Given the description of an element on the screen output the (x, y) to click on. 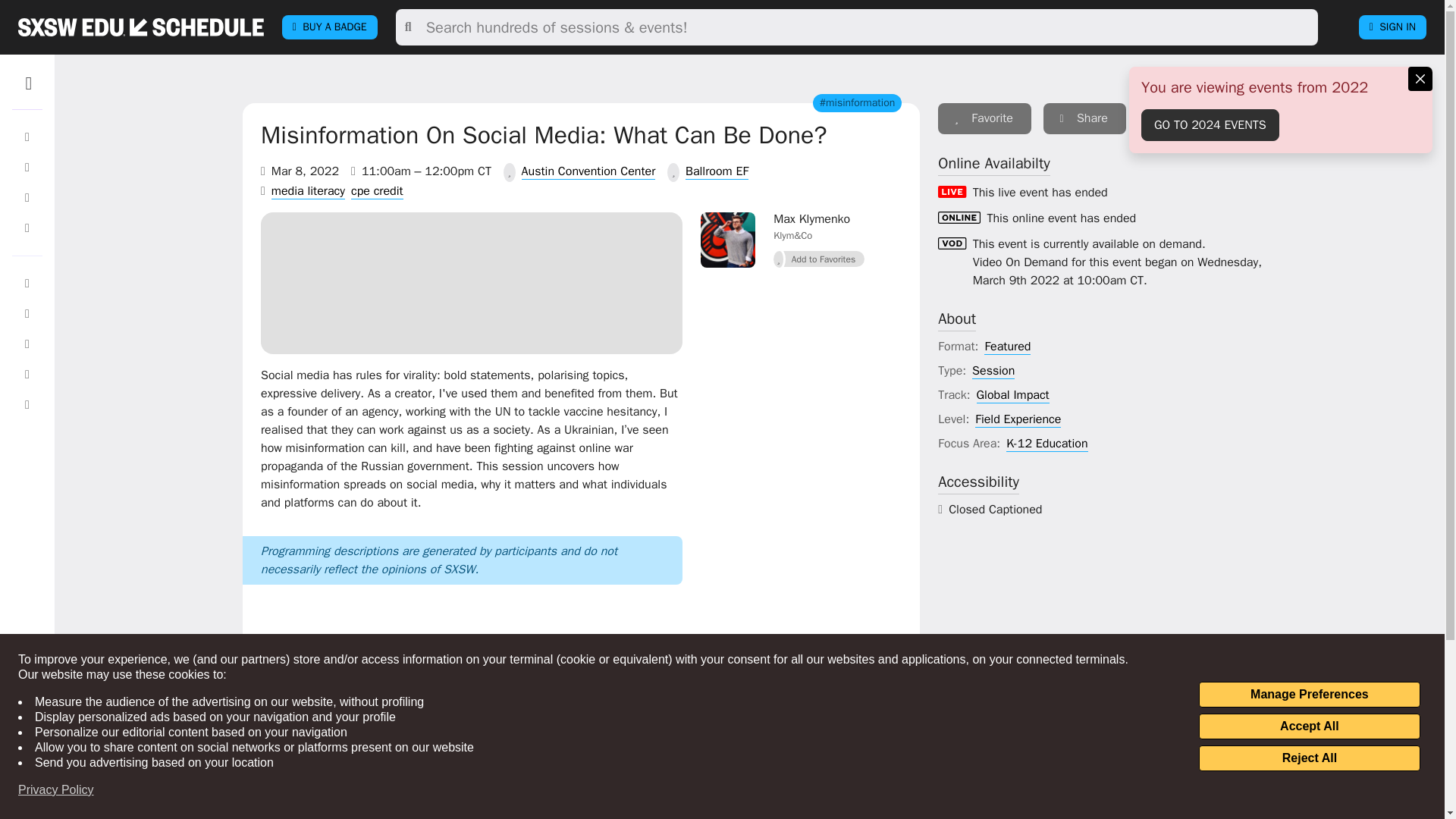
edu SCHEDULE (140, 27)
BUY A BADGE (329, 27)
Privacy Policy (55, 789)
Accept All (1309, 726)
SIGN IN (1392, 27)
Reject All (1309, 758)
Sign In to add to your favorites. (818, 259)
GO TO 2024 EVENTS (1210, 124)
cpe credit (376, 191)
